Given the description of an element on the screen output the (x, y) to click on. 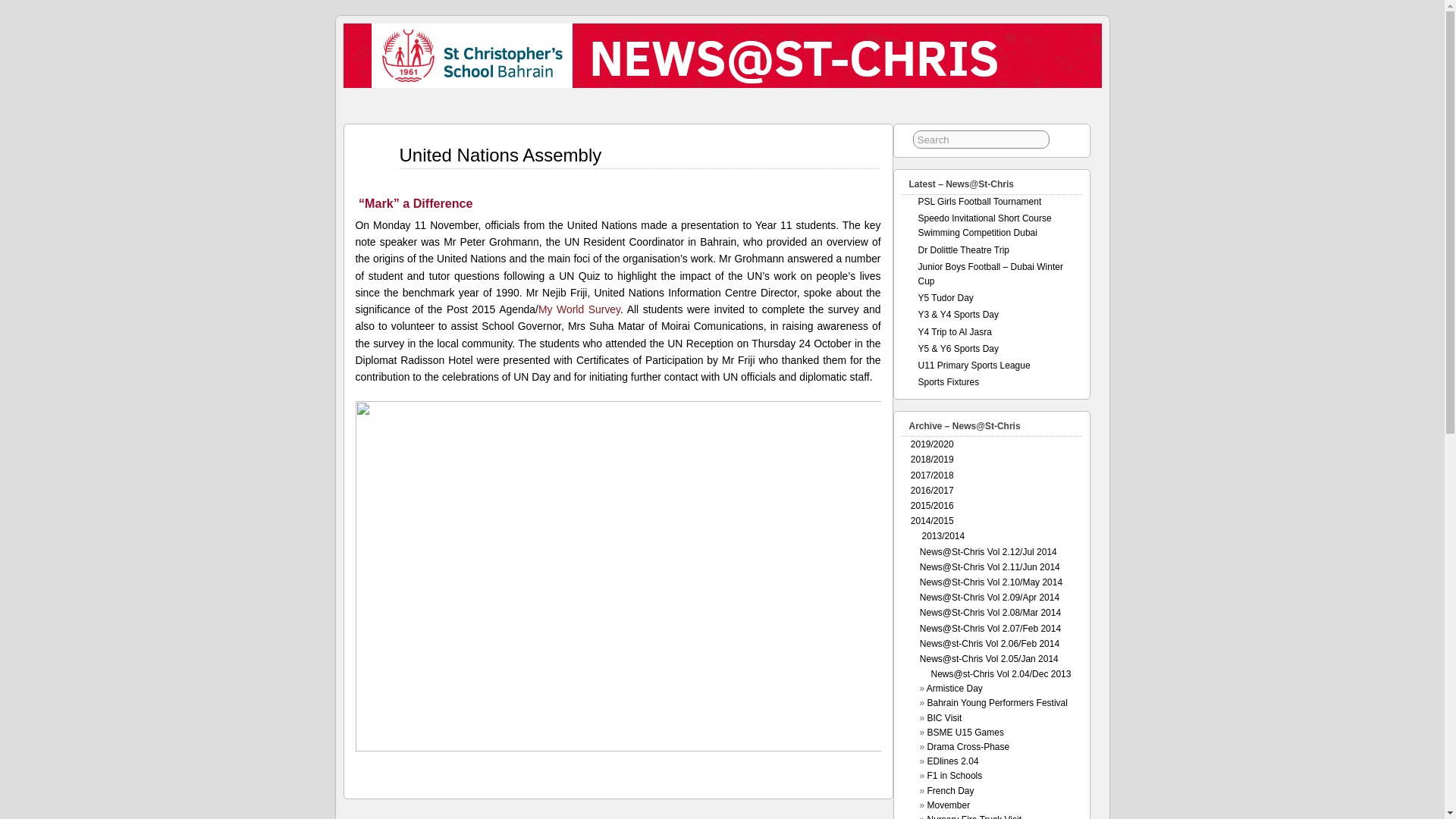
United Nations Assembly (499, 154)
PSL Girls Football Tournament (979, 201)
Y5 Tudor Day (944, 297)
Sports Fixtures (947, 381)
United Nations Assembly (499, 154)
My World Survey (579, 309)
Search (980, 139)
Y4 Trip to Al Jasra (954, 330)
Dr Dolittle Theatre Trip (963, 249)
Speedo Invitational Short Course Swimming Competition Dubai (984, 225)
